Given the description of an element on the screen output the (x, y) to click on. 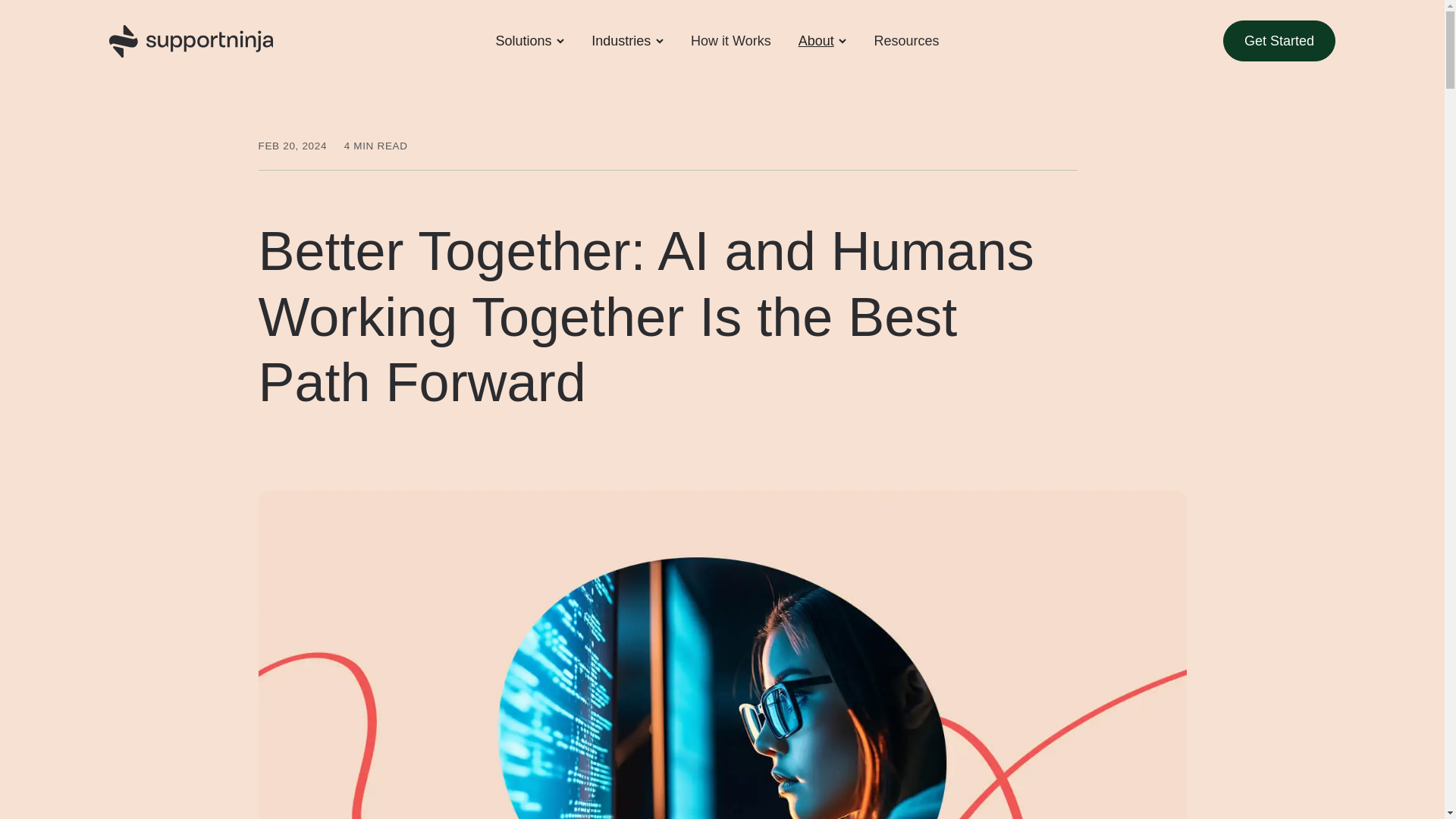
Get Started (1279, 40)
Resources (906, 40)
How it Works (730, 40)
About (815, 40)
